Given the description of an element on the screen output the (x, y) to click on. 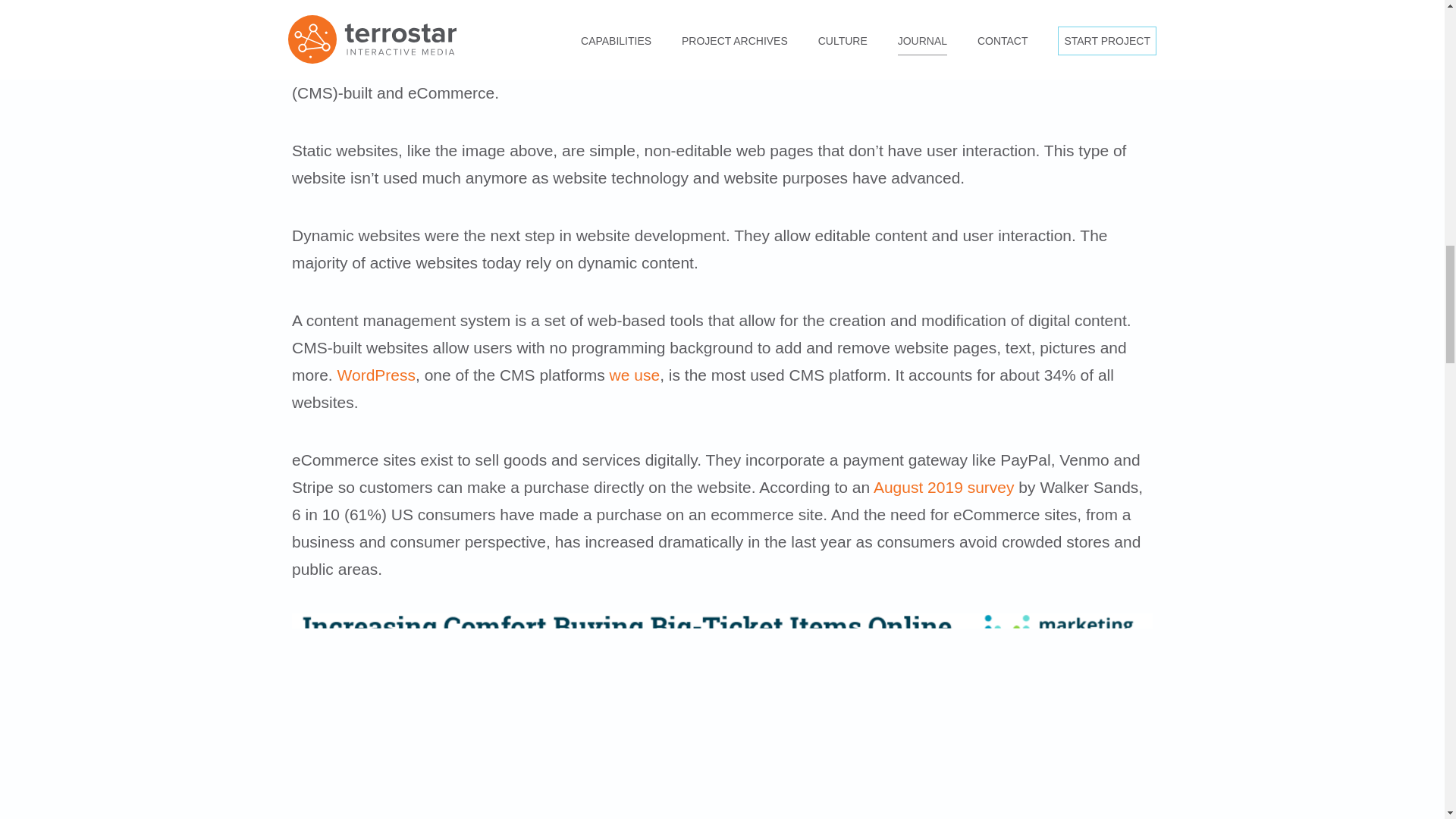
we use (635, 375)
August 2019 survey (943, 487)
WordPress (375, 375)
